Given the description of an element on the screen output the (x, y) to click on. 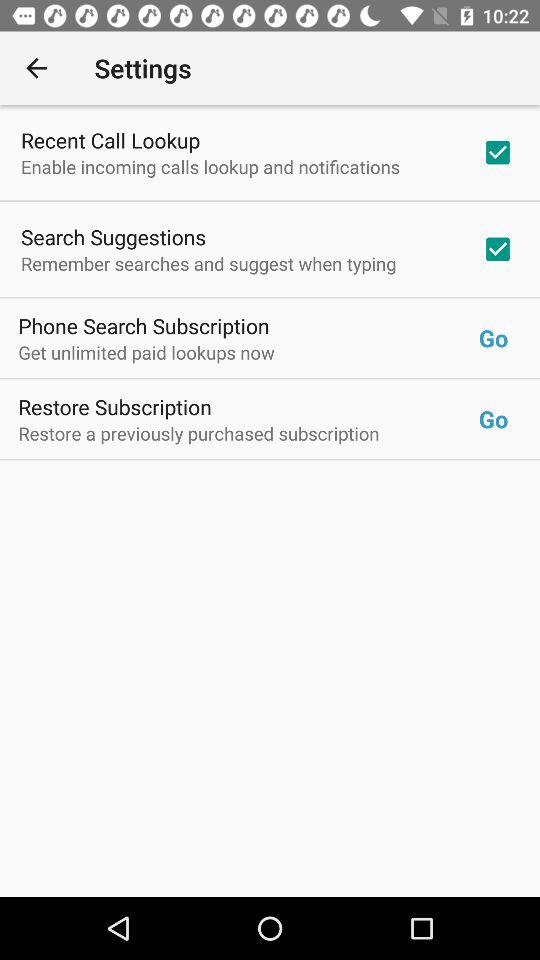
launch the item below the restore subscription (248, 433)
